Given the description of an element on the screen output the (x, y) to click on. 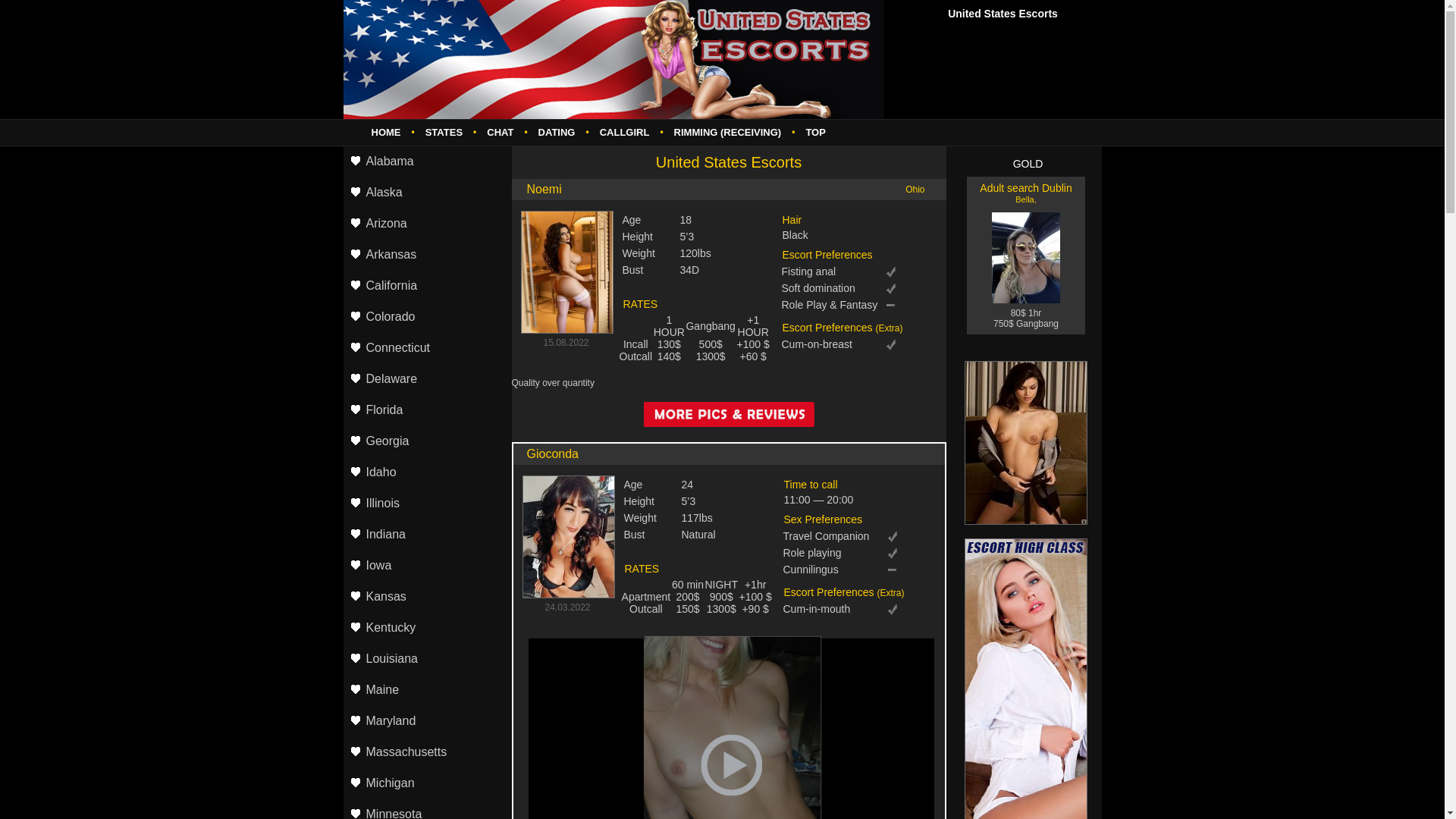
Illinois Element type: text (425, 503)
Alabama Element type: text (425, 161)
Iowa Element type: text (425, 565)
California Element type: text (425, 285)
Delaware Element type: text (425, 379)
Massachusetts Element type: text (425, 752)
Indiana Element type: text (425, 534)
DATING Element type: text (556, 132)
Connecticut Element type: text (425, 348)
Arizona Element type: text (425, 223)
Georgia Element type: text (425, 441)
TOP Element type: text (815, 132)
Kansas Element type: text (425, 596)
Louisiana Element type: text (425, 658)
Colorado Element type: text (425, 316)
United States Escorts Element type: hover (612, 59)
CALLGIRL Element type: text (624, 132)
Alaska Element type: text (425, 192)
Maine Element type: text (425, 690)
Florida Element type: text (425, 410)
Arkansas Element type: text (425, 254)
STATES Element type: text (443, 132)
Kentucky Element type: text (425, 627)
Idaho Element type: text (425, 472)
RIMMING (RECEIVING) Element type: text (727, 132)
Michigan Element type: text (425, 783)
Maryland Element type: text (425, 721)
CHAT Element type: text (499, 132)
HOME Element type: text (386, 132)
